Given the description of an element on the screen output the (x, y) to click on. 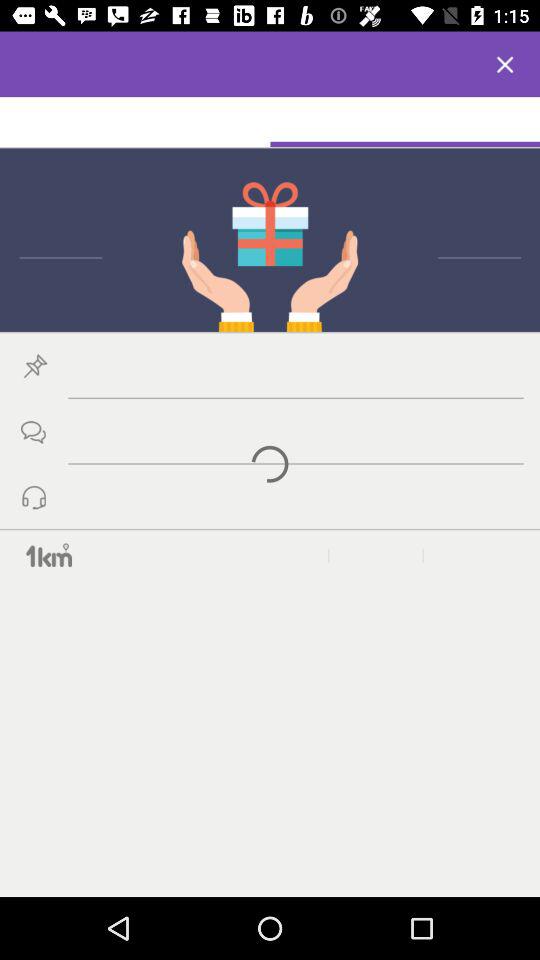
x (505, 64)
